Given the description of an element on the screen output the (x, y) to click on. 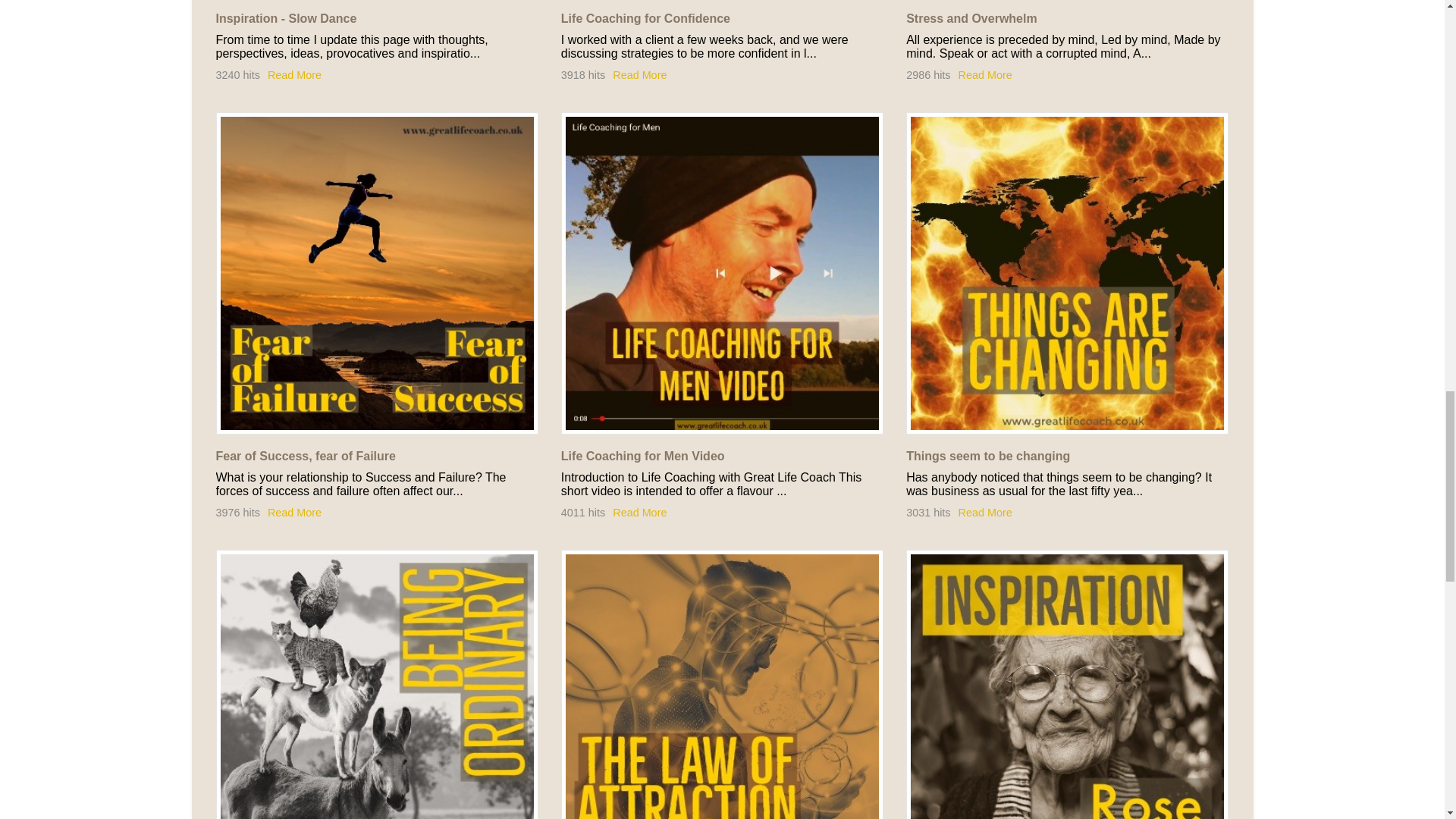
Inspiration - Slow Dance (285, 18)
Stress and Overwhelm (970, 18)
Fear of Success, fear of Failure (376, 273)
Life Coaching for Confidence (645, 18)
